Given the description of an element on the screen output the (x, y) to click on. 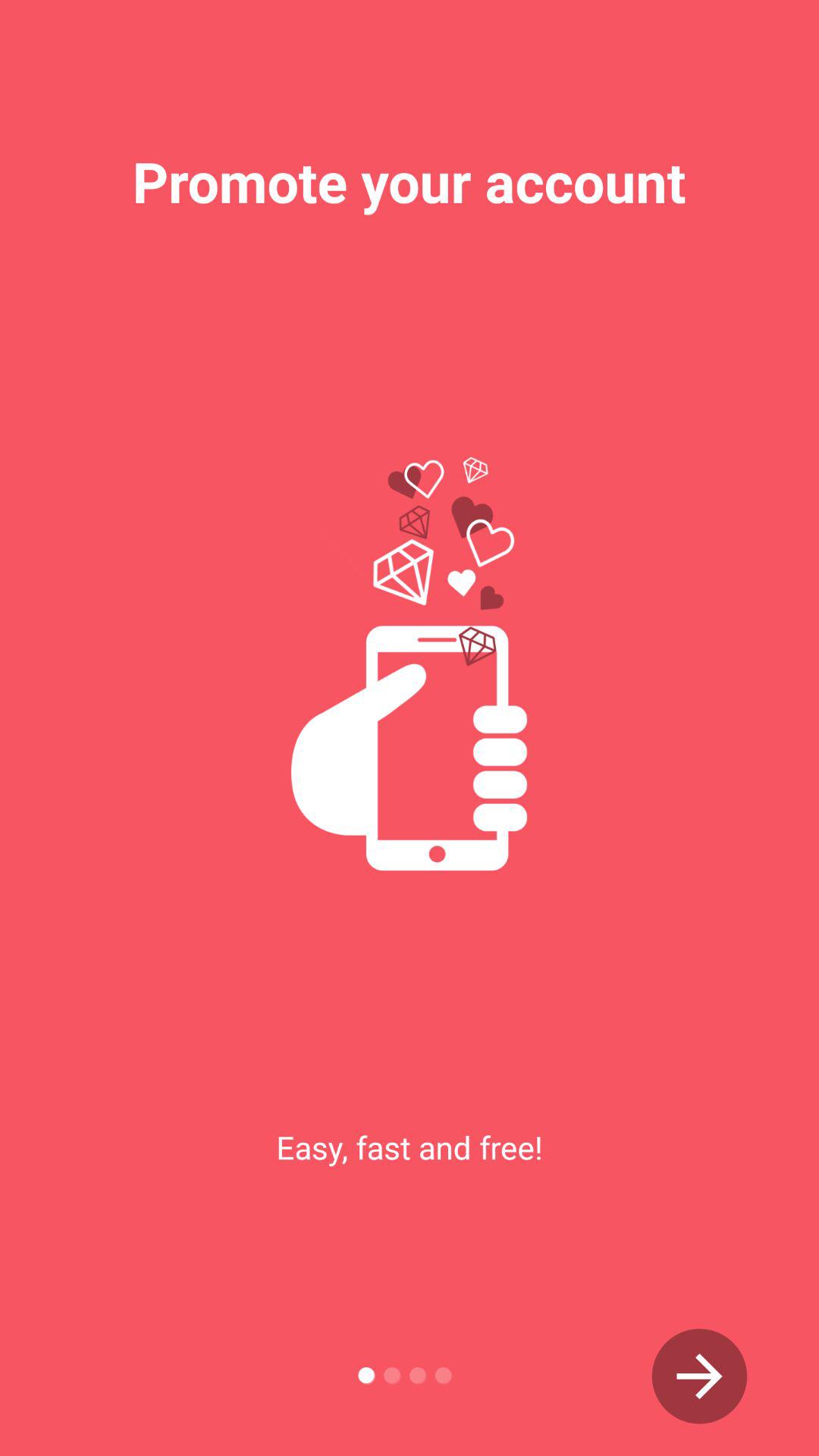
turn off icon below easy fast and item (699, 1376)
